Given the description of an element on the screen output the (x, y) to click on. 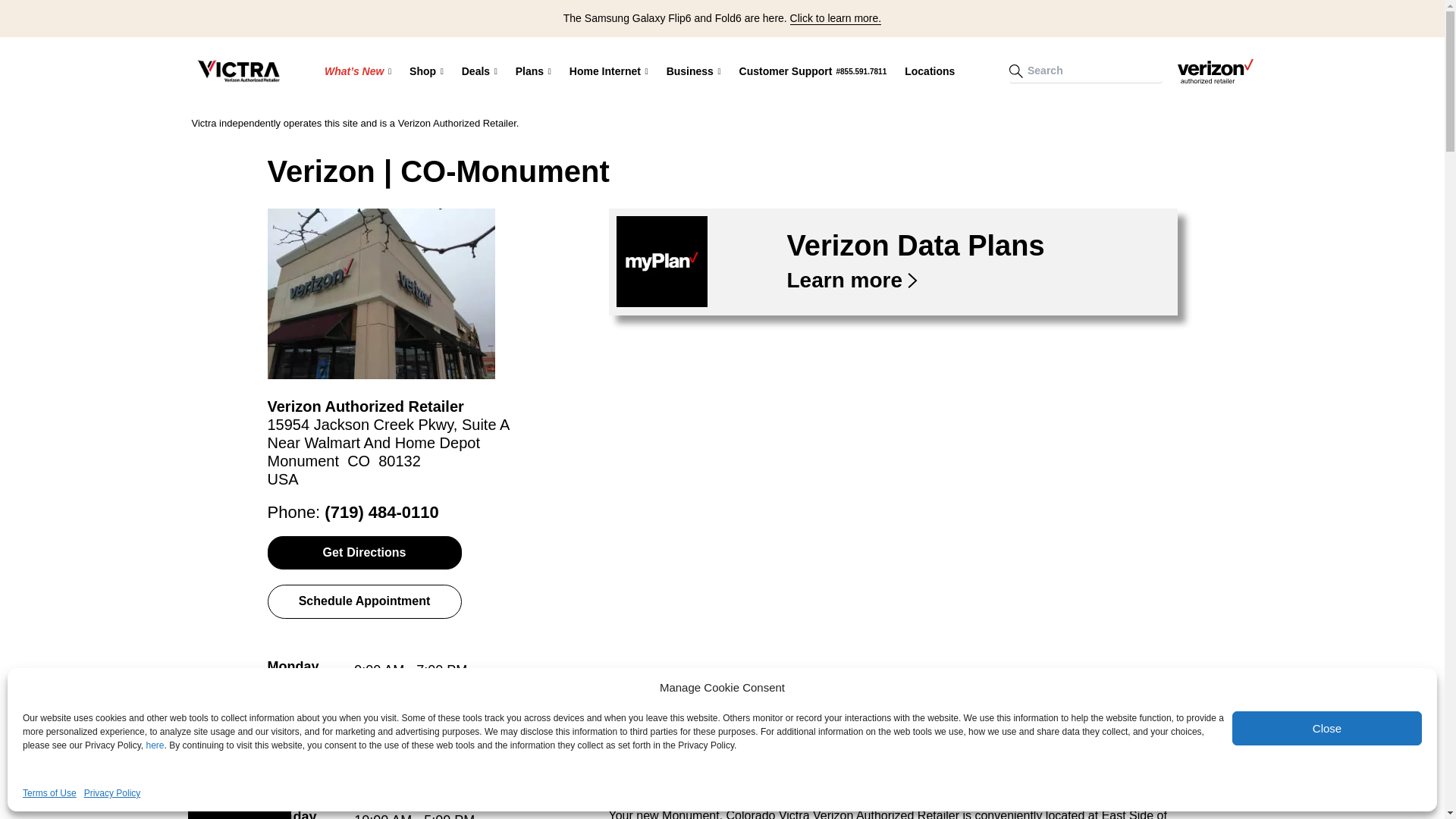
Close (1326, 728)
All Devices (510, 121)
Apple iPhone 15 Series (424, 121)
here (155, 745)
Apple (561, 122)
Privacy Policy (112, 793)
Accessories (561, 121)
Click to learn more. (836, 18)
Mobile (615, 122)
Apple (510, 122)
Terms of Use (50, 793)
